Given the description of an element on the screen output the (x, y) to click on. 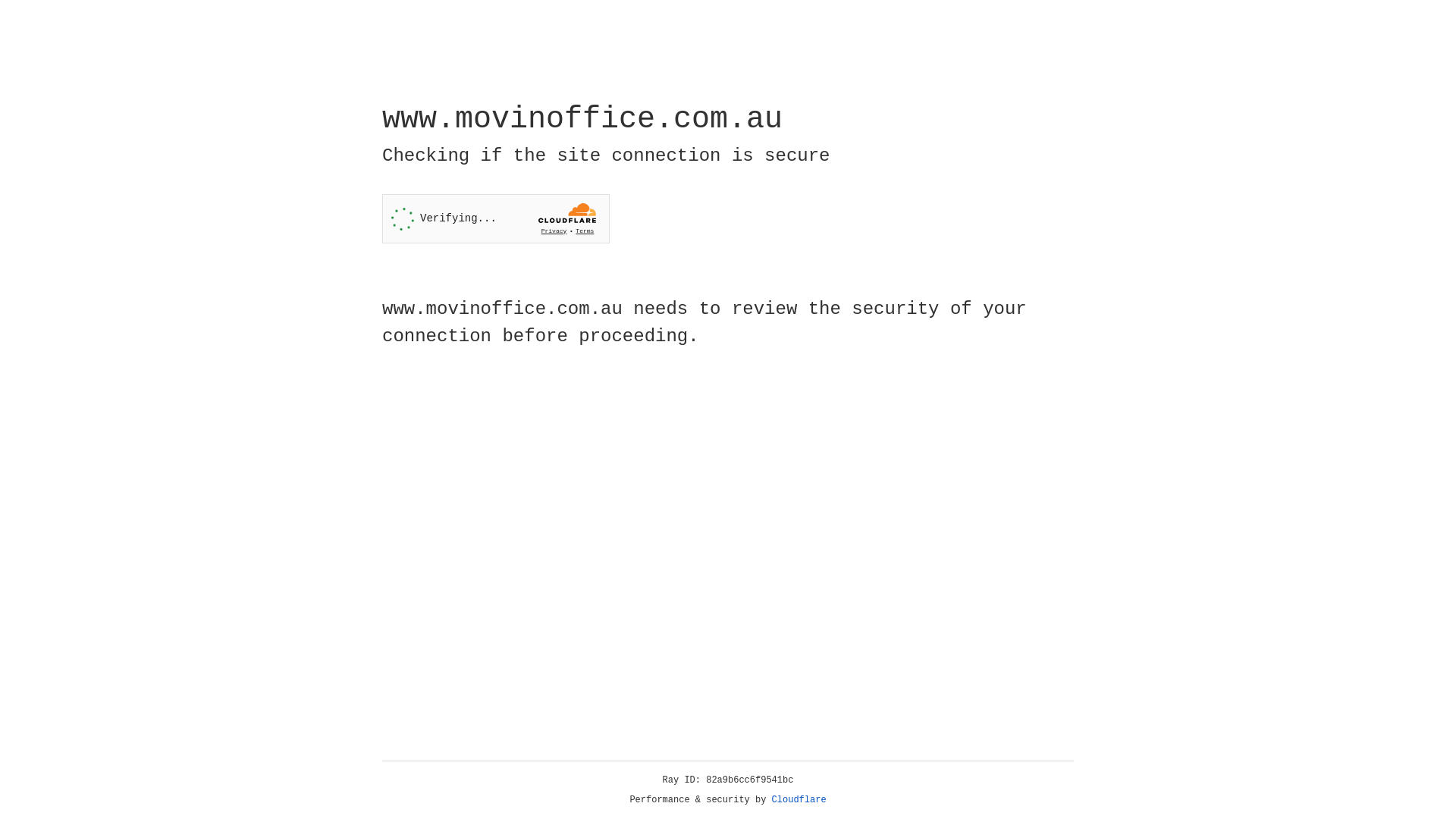
Widget containing a Cloudflare security challenge Element type: hover (495, 218)
Cloudflare Element type: text (798, 799)
